Given the description of an element on the screen output the (x, y) to click on. 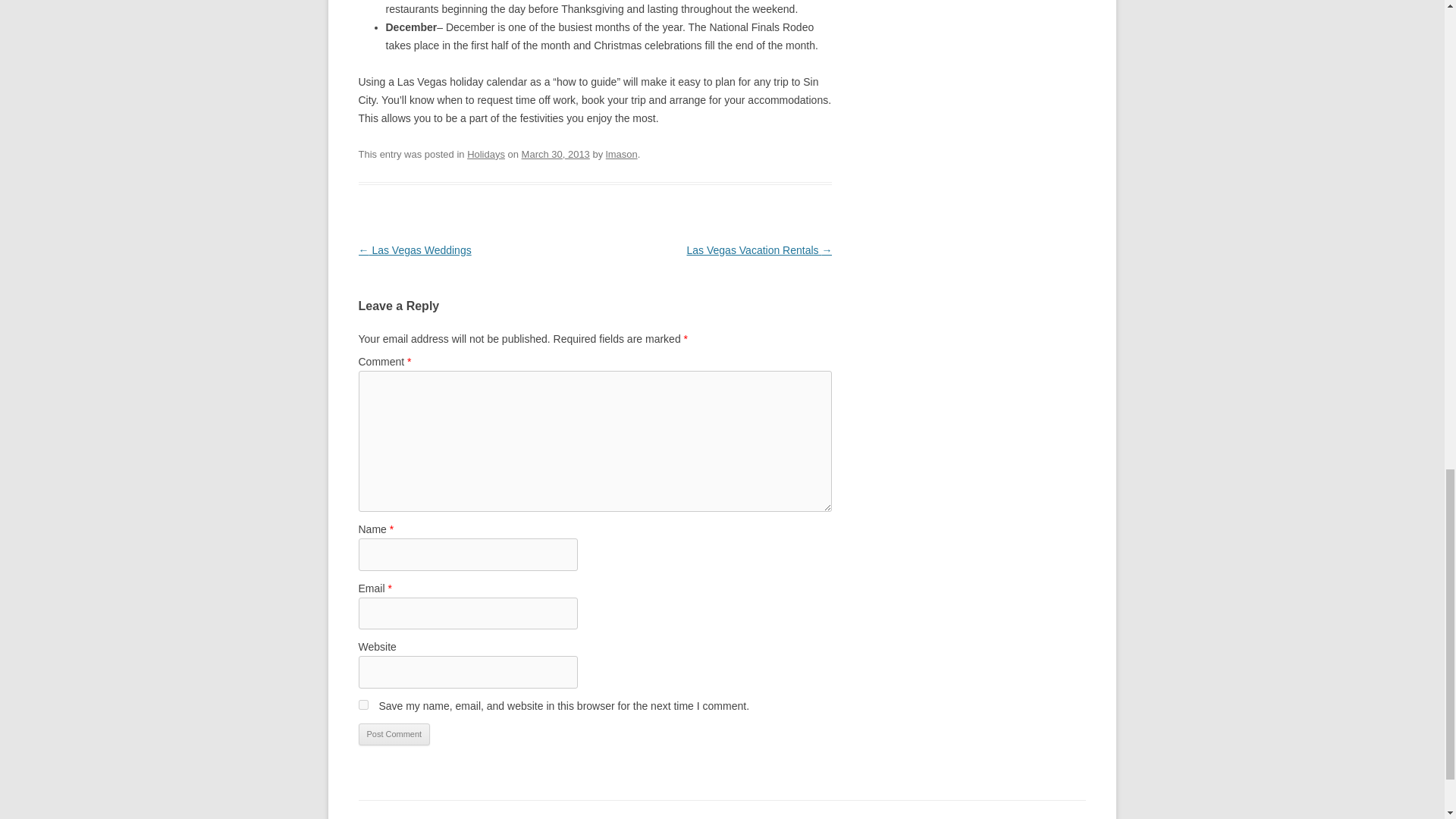
yes (363, 705)
View all posts by lmason (621, 153)
March 30, 2013 (555, 153)
Post Comment (393, 734)
Post Comment (393, 734)
Holidays (486, 153)
lmason (621, 153)
4:30 am (555, 153)
